Given the description of an element on the screen output the (x, y) to click on. 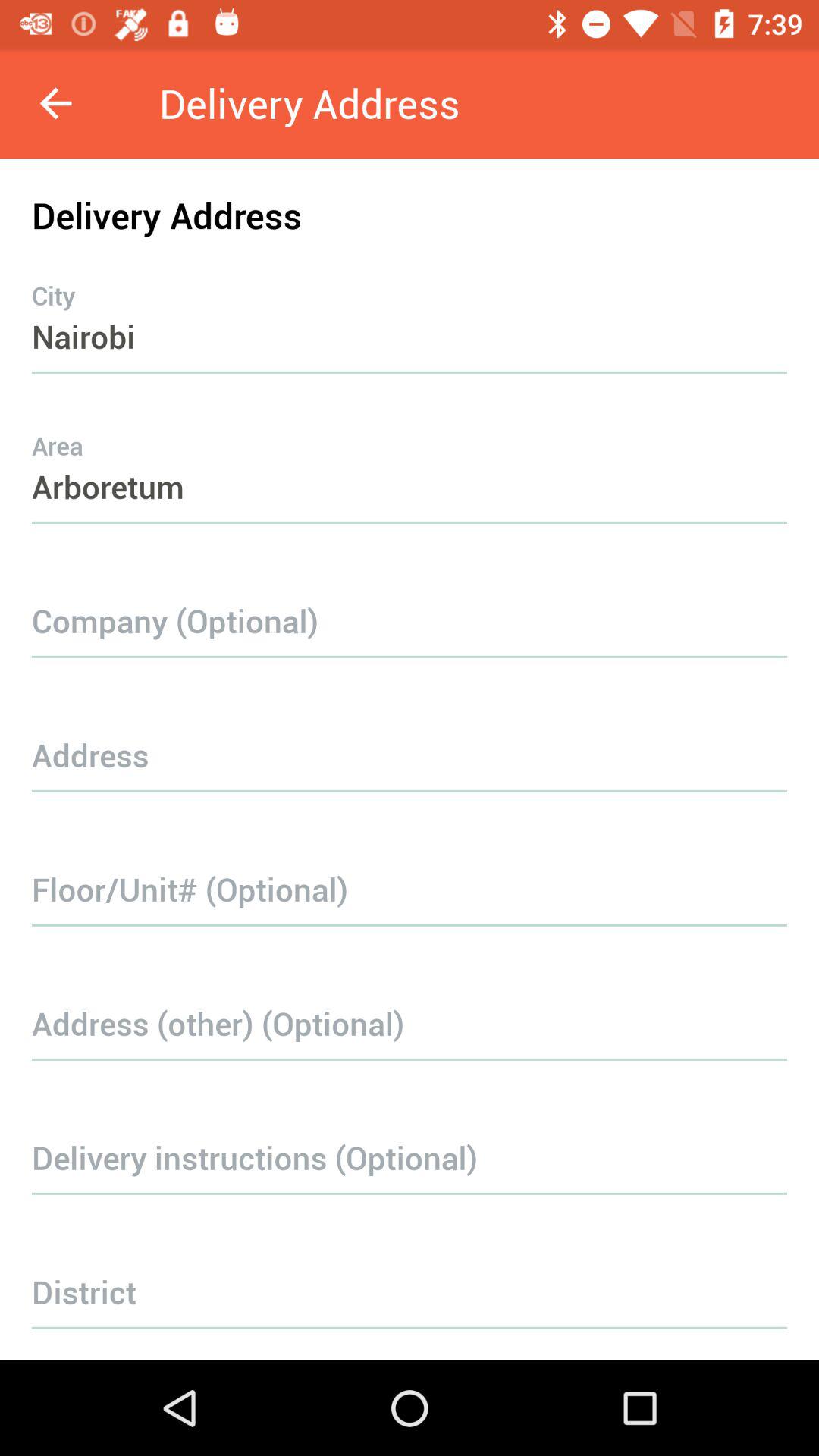
scroll until nairobi item (409, 306)
